Given the description of an element on the screen output the (x, y) to click on. 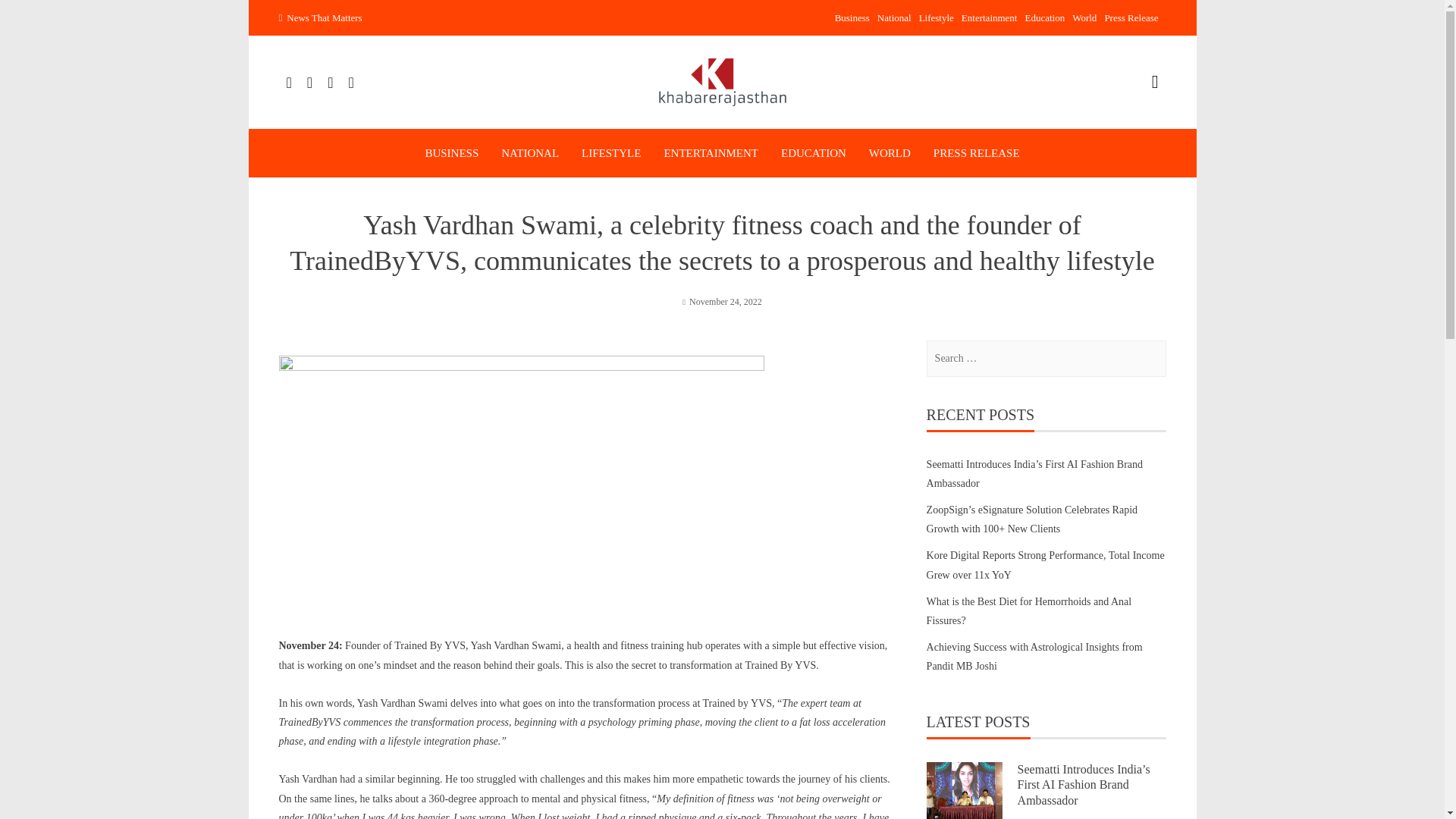
Search (29, 17)
EDUCATION (812, 152)
Business (851, 17)
Press Release (1130, 17)
BUSINESS (452, 152)
NATIONAL (529, 152)
WORLD (890, 152)
What is the Best Diet for Hemorrhoids and Anal Fissures? (1029, 611)
